Given the description of an element on the screen output the (x, y) to click on. 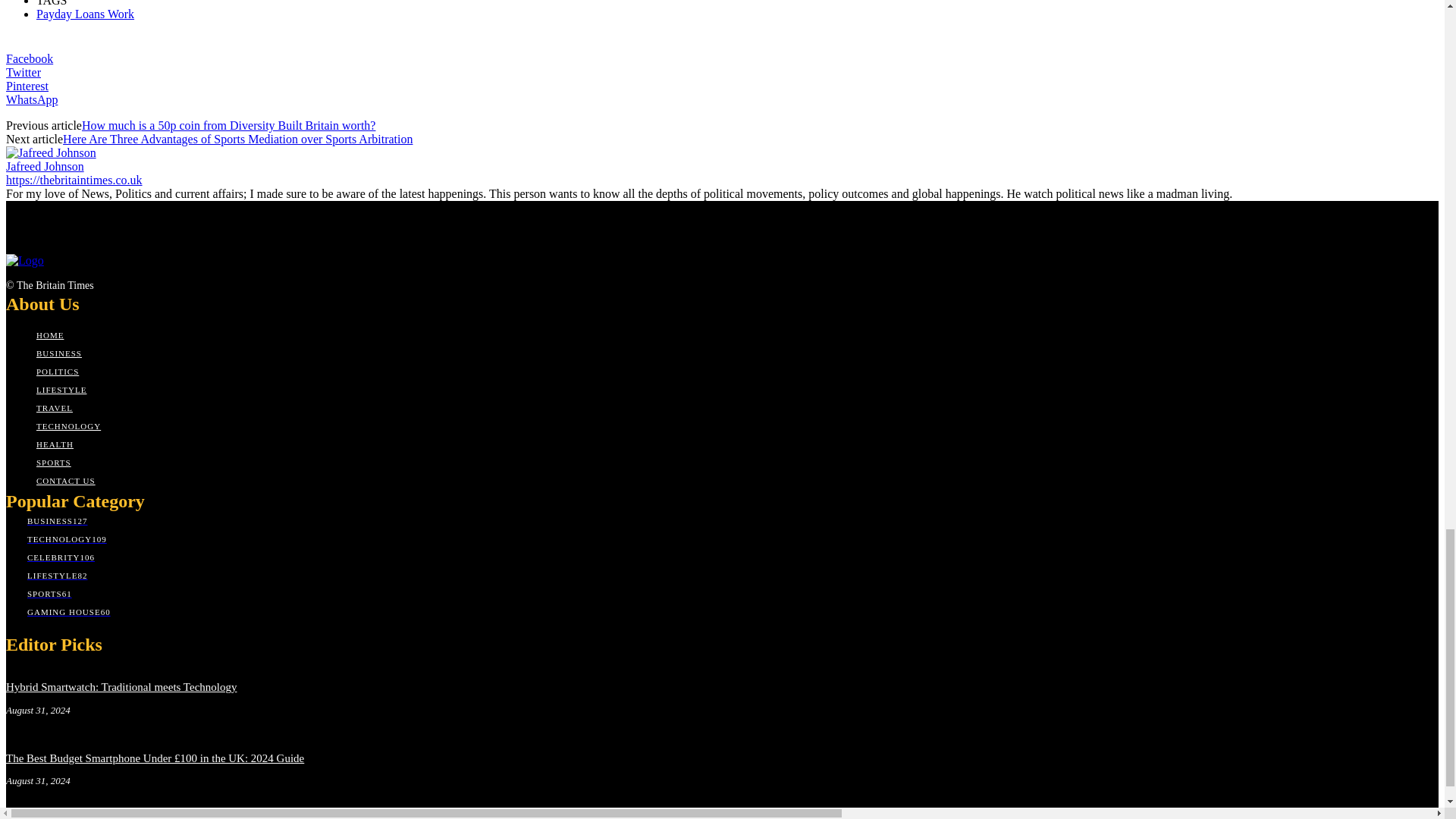
bottomFacebookLike (118, 41)
